Given the description of an element on the screen output the (x, y) to click on. 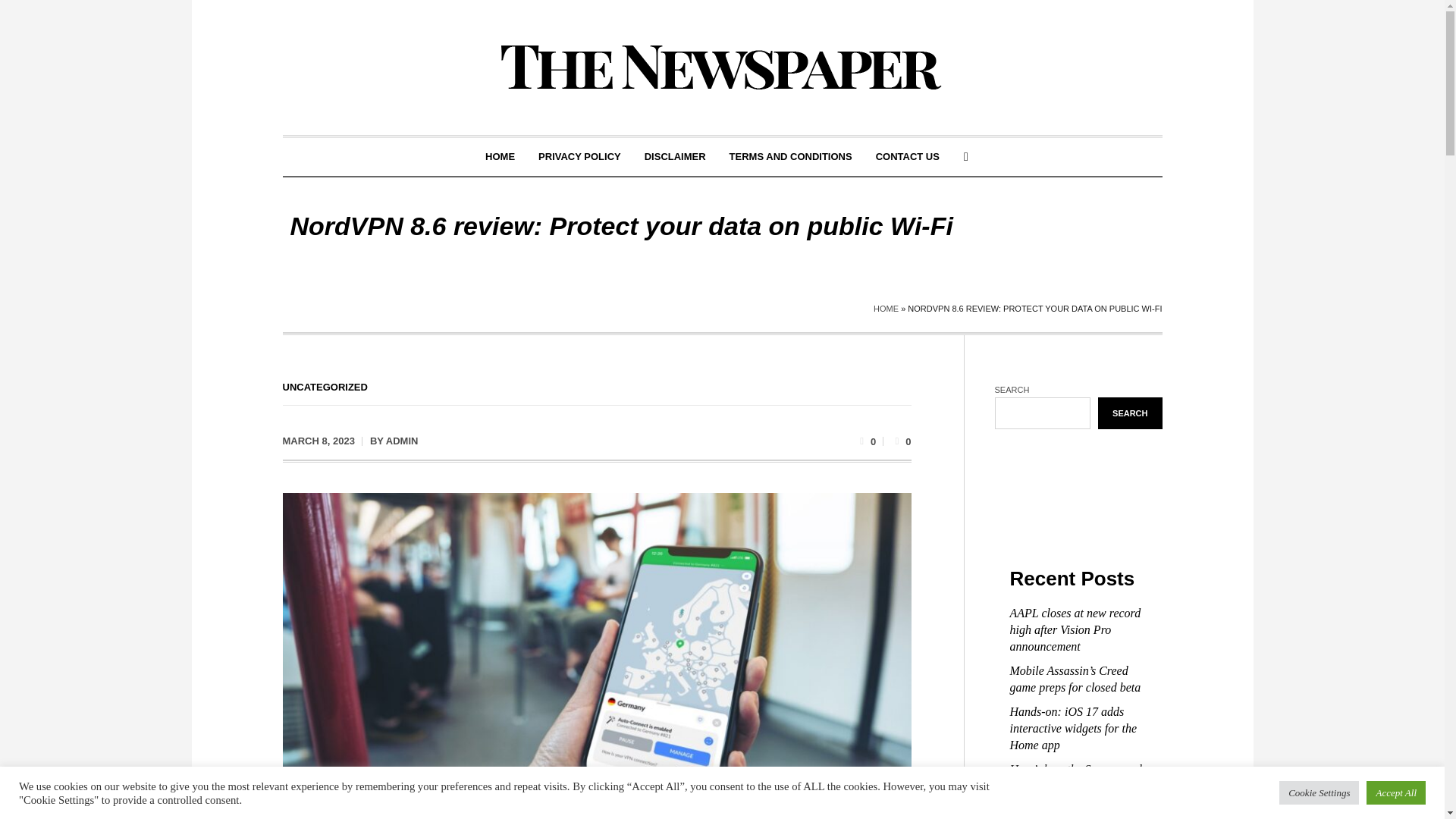
March 8, 2023 (317, 440)
Posts by admin (402, 440)
0 (866, 440)
DISCLAIMER (675, 157)
TERMS AND CONDITIONS (790, 157)
UNCATEGORIZED (324, 387)
0 (901, 440)
AAPL closes at new record high after Vision Pro announcement (1075, 629)
